Given the description of an element on the screen output the (x, y) to click on. 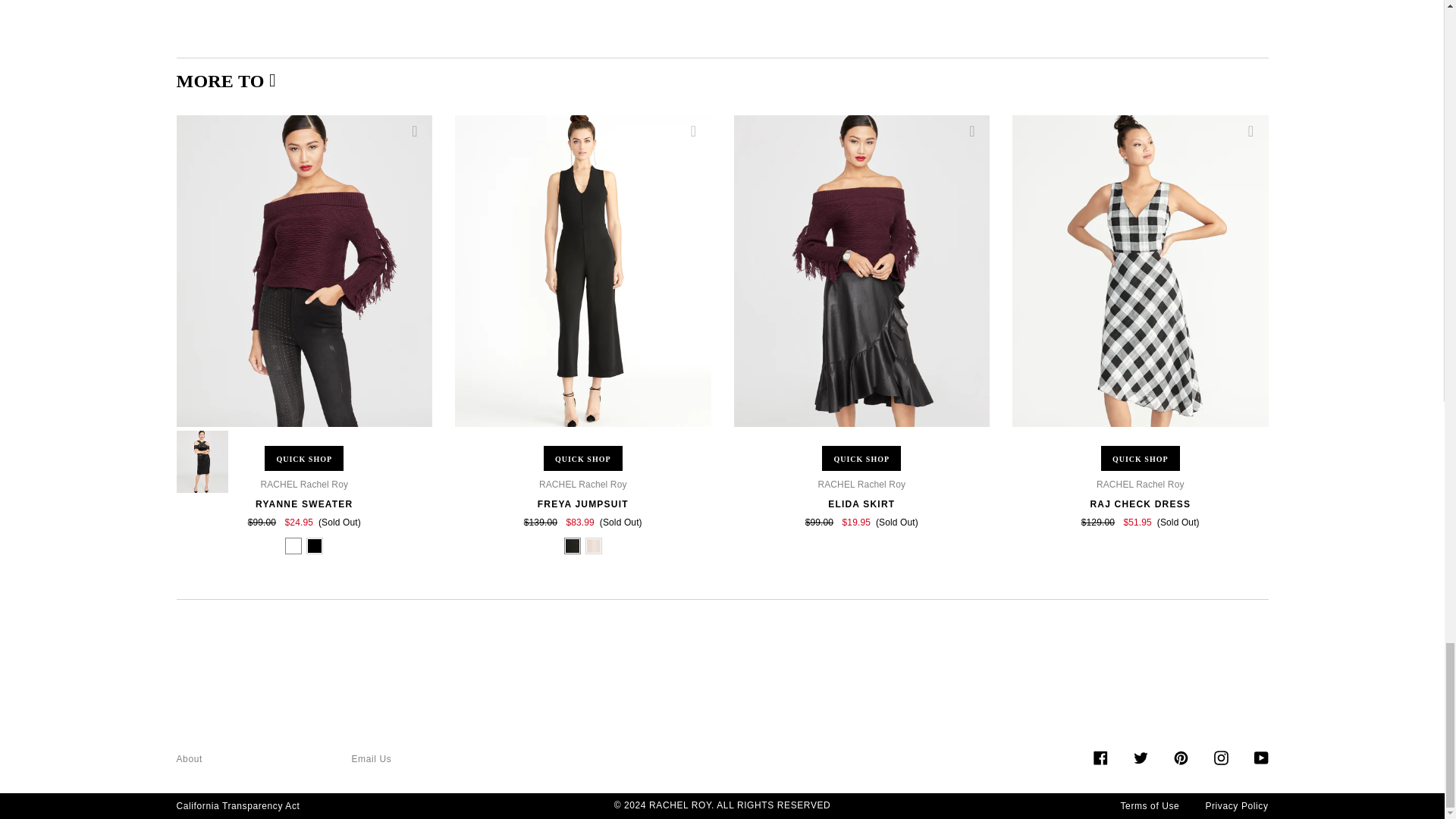
Rachel Roy on YouTube (1260, 756)
Ivory (314, 544)
Rachel Roy on Pinterest (1180, 756)
Rachel Roy on Instagram (1219, 756)
Royal Orchid (293, 544)
Rachel Roy on Facebook (1100, 756)
QUICK SHOP (303, 457)
RYANNE SWEATER (304, 504)
Rachel Roy on Twitter (1139, 756)
